Given the description of an element on the screen output the (x, y) to click on. 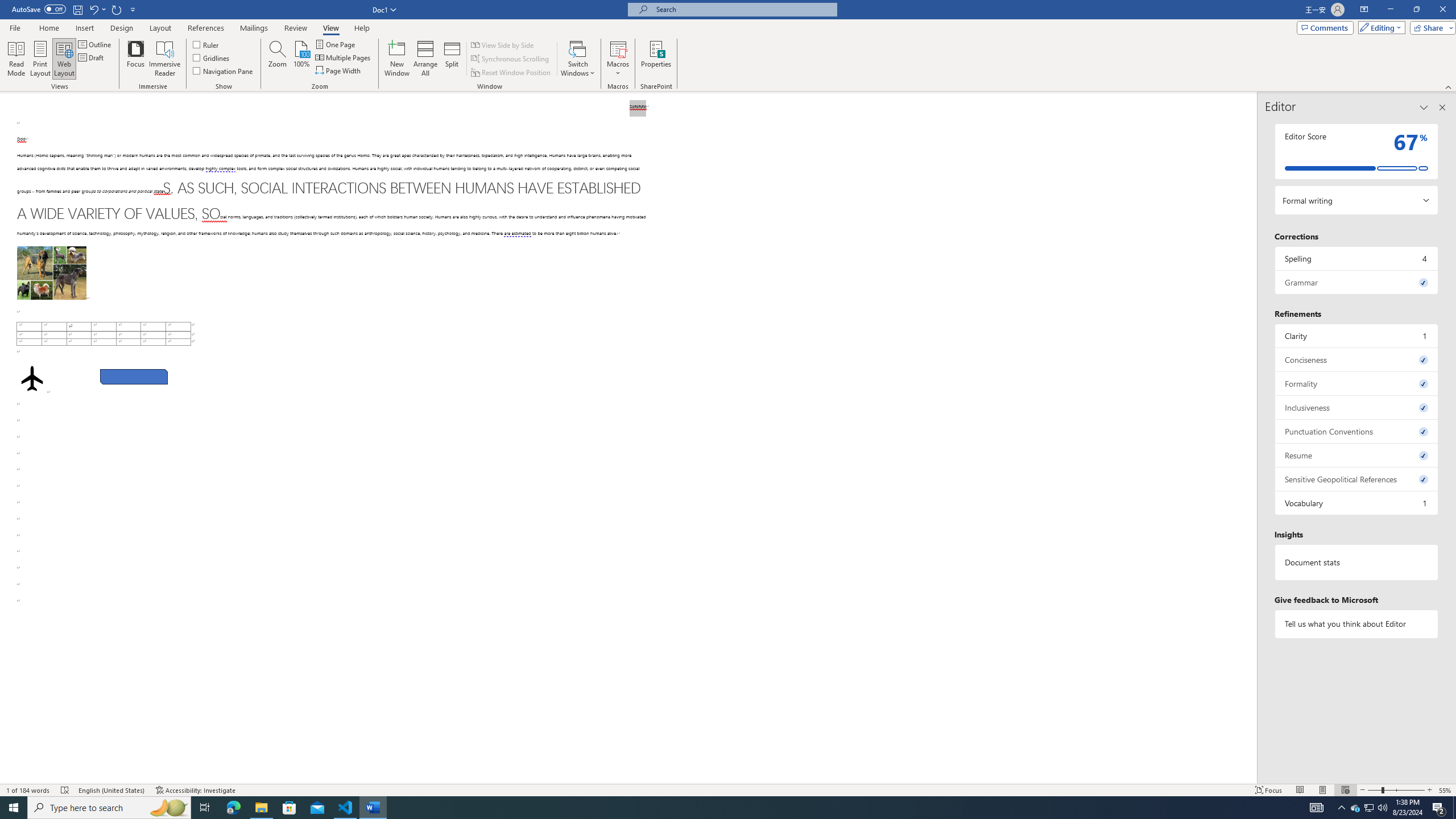
Vocabulary, 1 issue. Press space or enter to review items. (1356, 502)
Outline (95, 44)
Word Count 1 of 184 words (28, 790)
Editor Score 67% (1356, 151)
Spelling, 4 issues. Press space or enter to review items. (1356, 258)
Immersive Reader (165, 58)
One Page (335, 44)
